Given the description of an element on the screen output the (x, y) to click on. 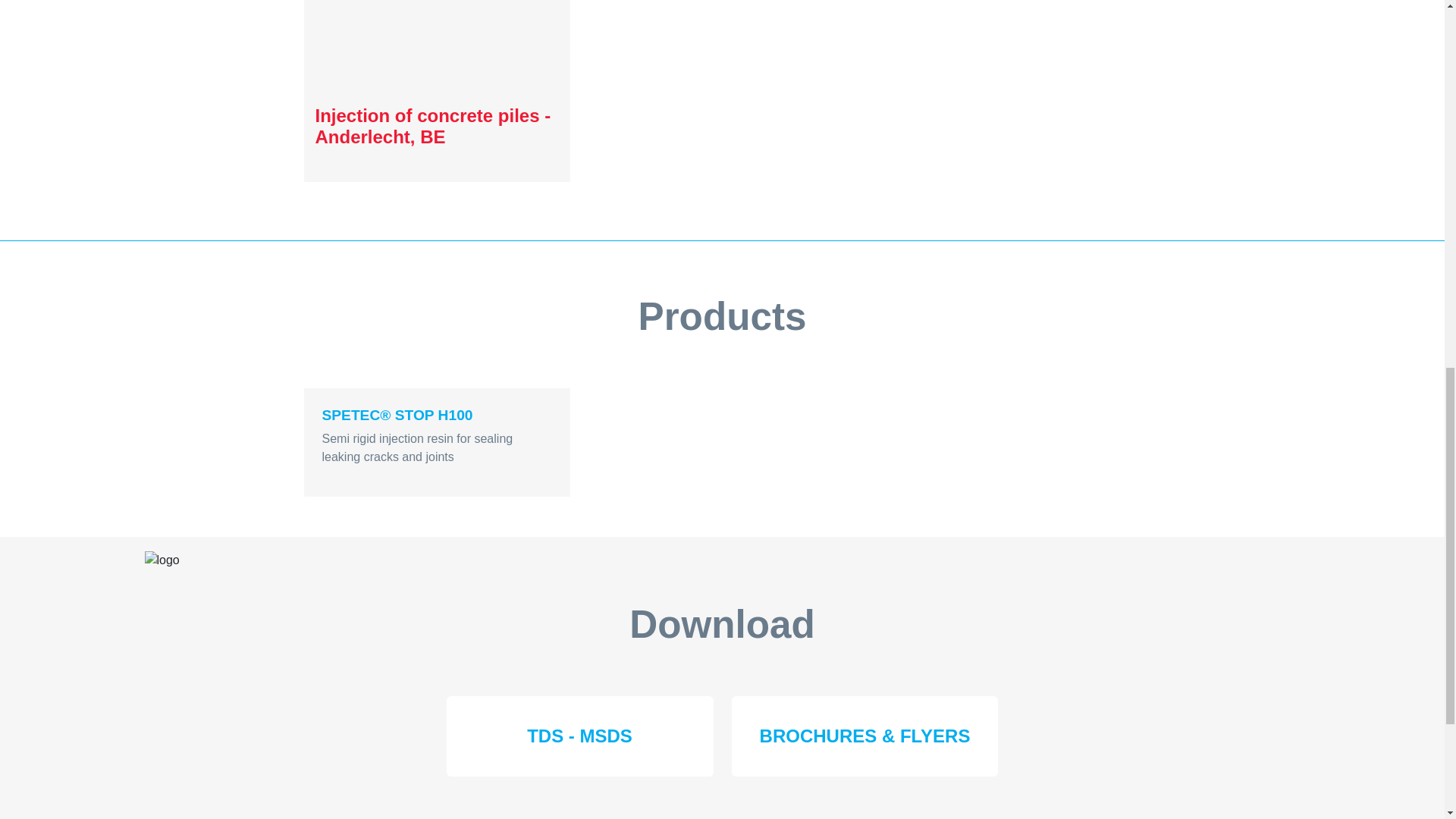
Injection of concrete piles - Anderlecht, BE (436, 90)
TDS - MSDS (579, 736)
